Given the description of an element on the screen output the (x, y) to click on. 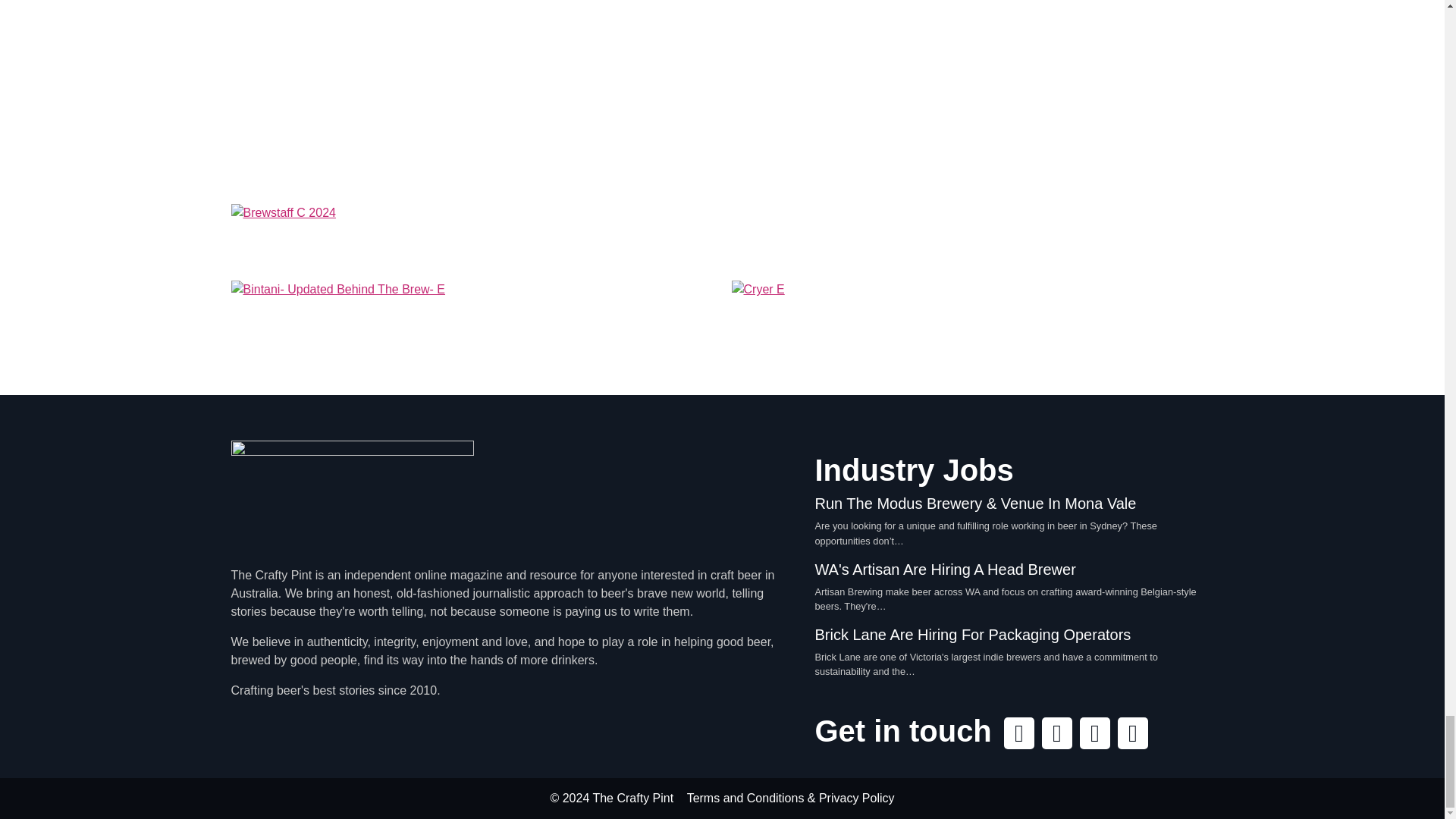
Brewstaff C 2024 (721, 236)
Cryer E (971, 320)
Bintani- Updated Behind The Brew- E (471, 320)
